Given the description of an element on the screen output the (x, y) to click on. 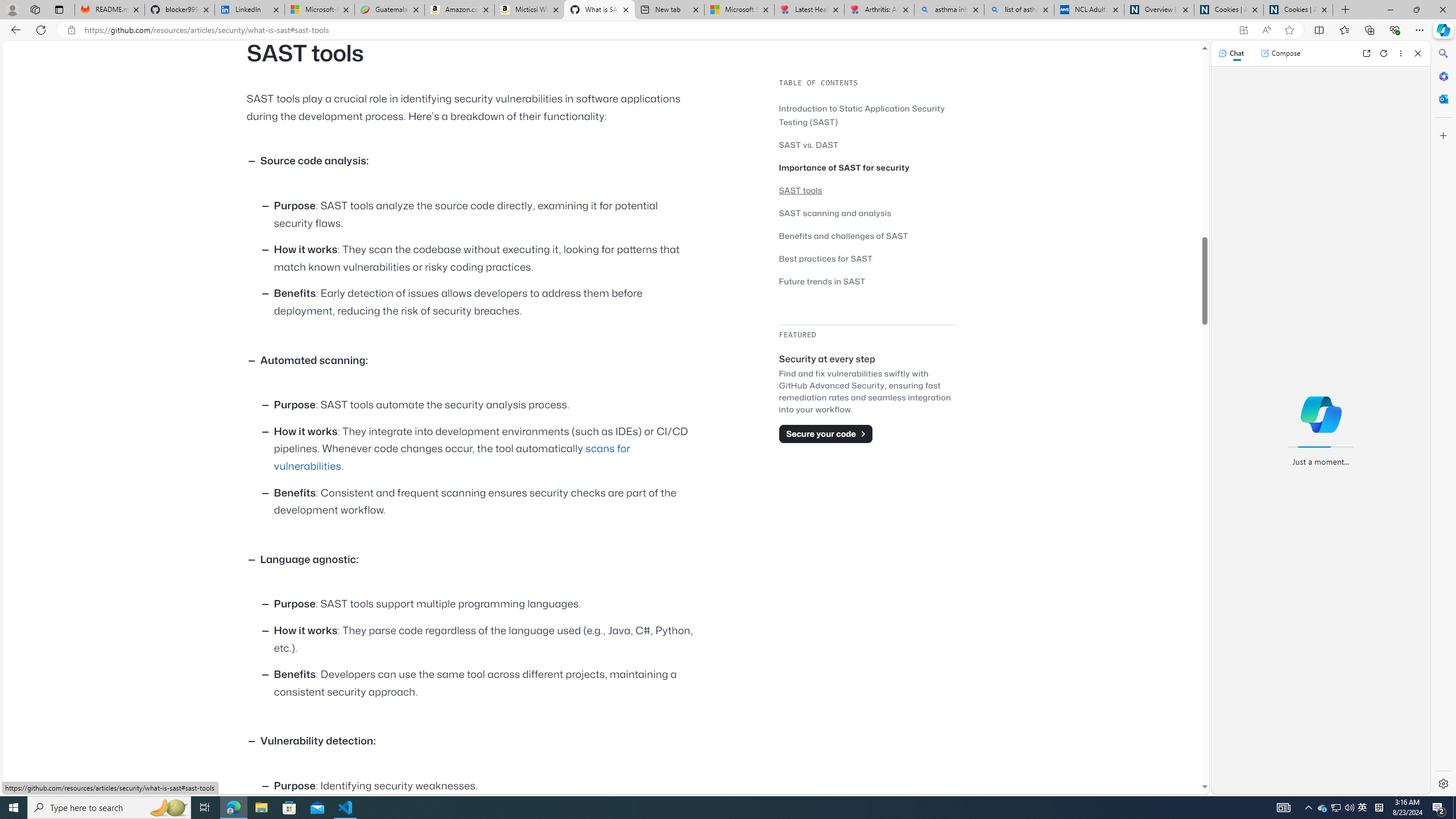
Introduction to Static Application Security Testing (SAST) (867, 115)
SAST vs. DAST (808, 144)
